Given the description of an element on the screen output the (x, y) to click on. 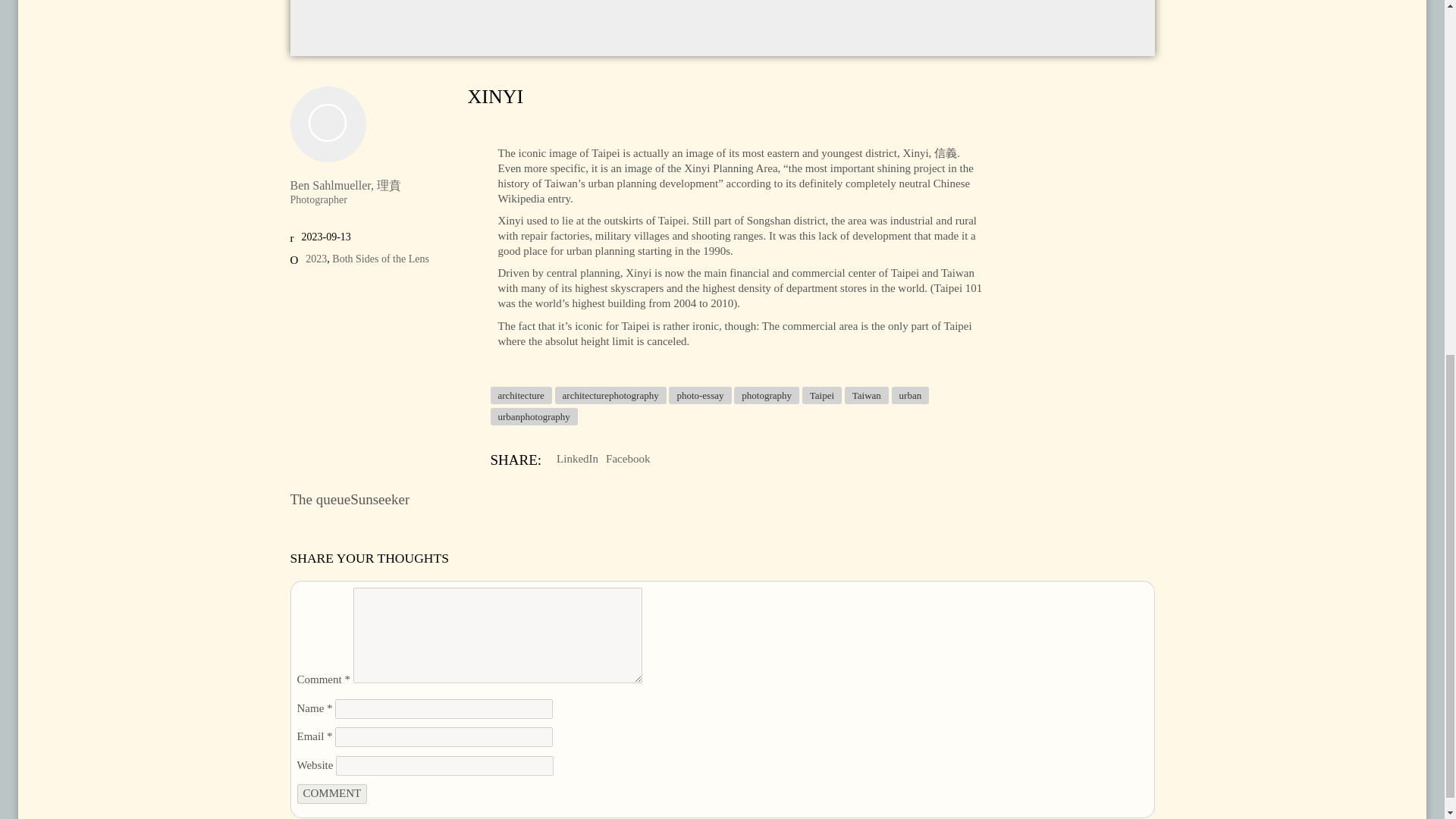
architecture (520, 395)
Sunseeker (379, 498)
LinkedIn (577, 459)
The queue (319, 498)
Facebook (627, 459)
architecturephotography (610, 395)
Comment (332, 793)
Taiwan (866, 395)
Both Sides of the Lens (380, 259)
urban (910, 395)
